Given the description of an element on the screen output the (x, y) to click on. 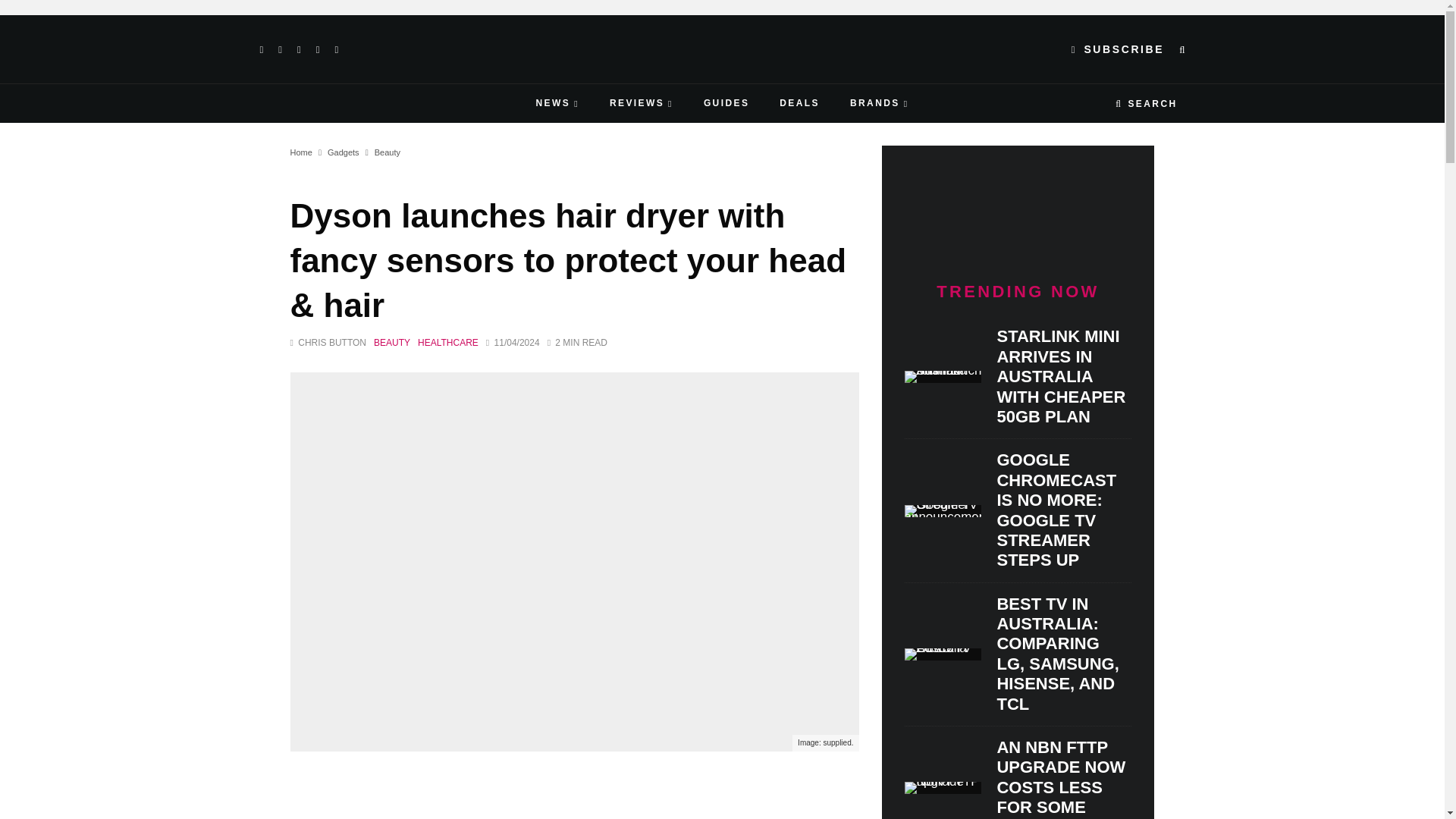
Google TV Streamer announcement (942, 510)
Starlink Mini launch Australia (942, 377)
NEWS (557, 103)
SUBSCRIBE (1118, 49)
LG C3 OLED TV Australia (942, 654)
NBN FTTP upgrade (942, 787)
